Given the description of an element on the screen output the (x, y) to click on. 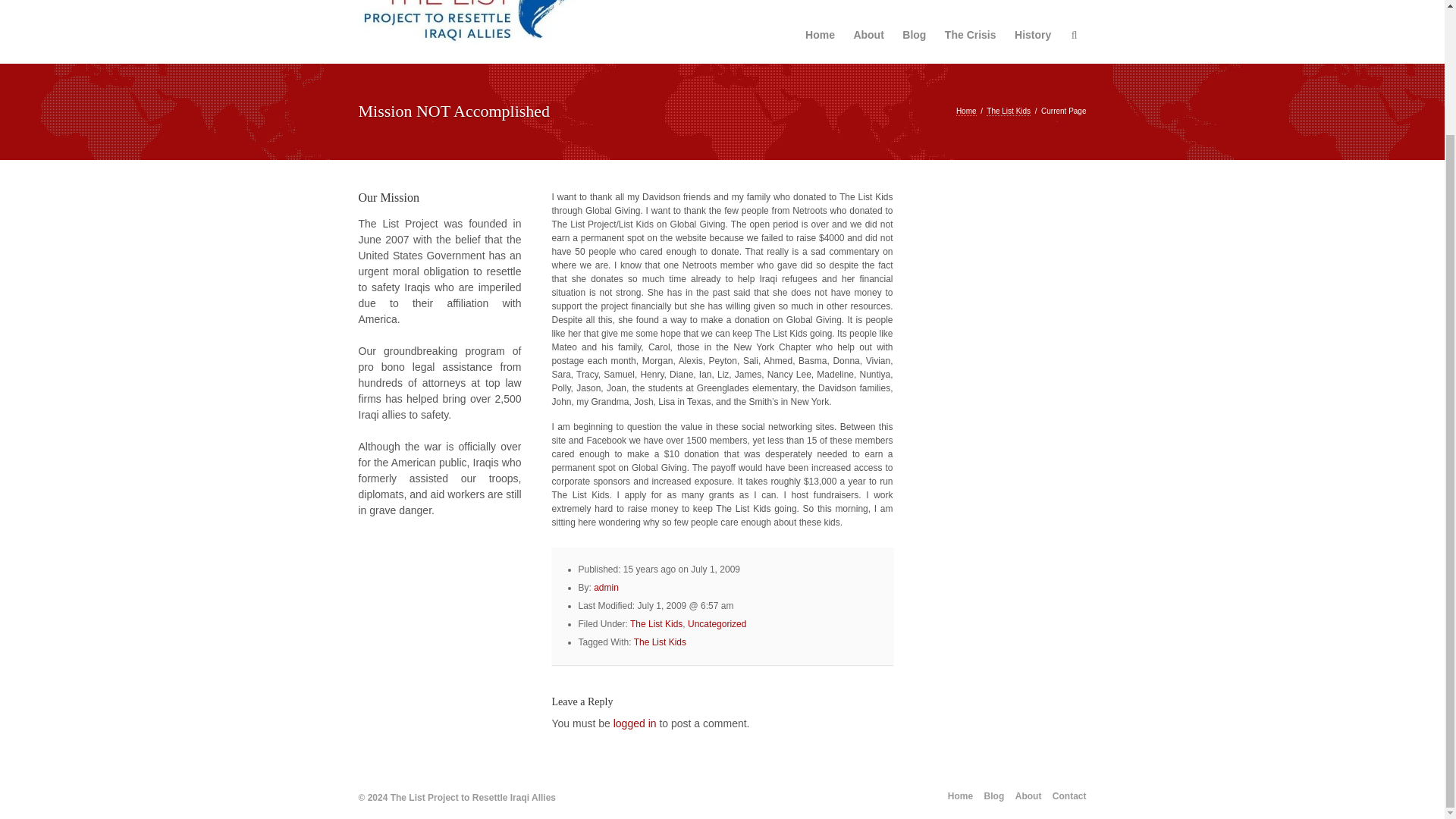
Home (966, 111)
The Crisis (970, 34)
History (1032, 34)
The List Kids (659, 642)
Uncategorized (716, 624)
The List Kids (1008, 111)
The List Kids (656, 624)
admin (606, 587)
Posts by admin (606, 587)
